Given the description of an element on the screen output the (x, y) to click on. 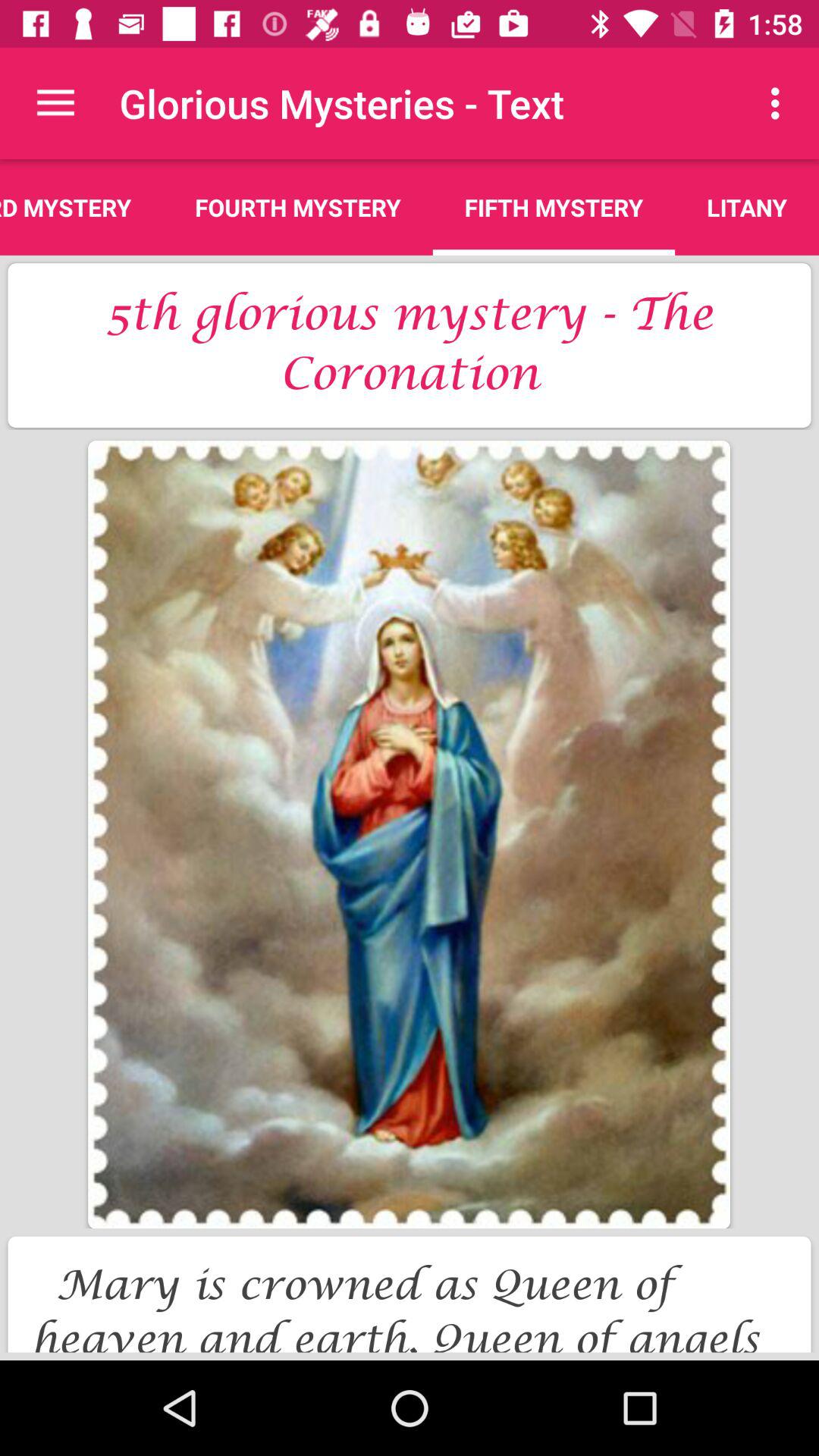
choose icon below glorious mysteries - text icon (553, 207)
